Given the description of an element on the screen output the (x, y) to click on. 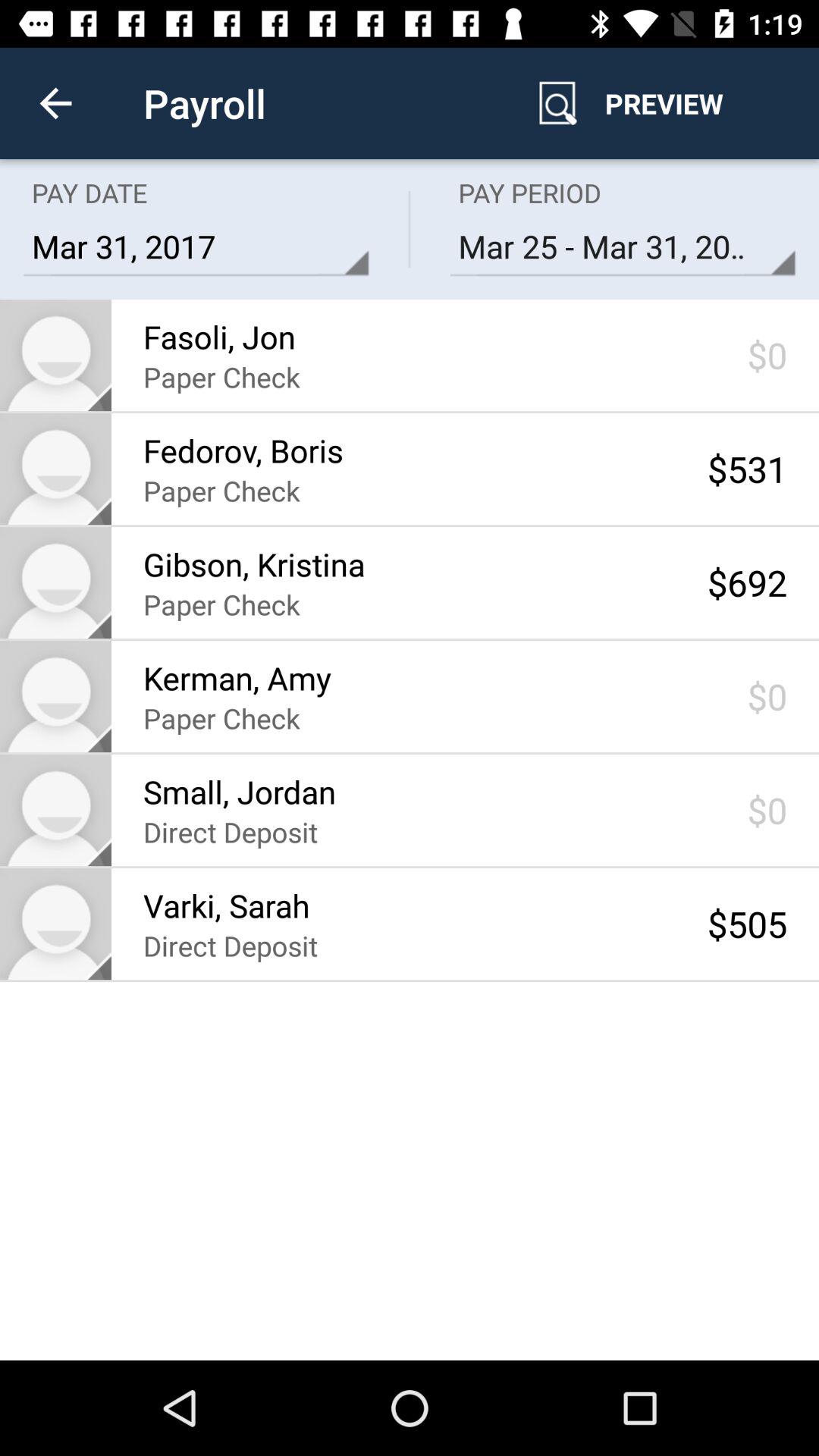
person (55, 923)
